Given the description of an element on the screen output the (x, y) to click on. 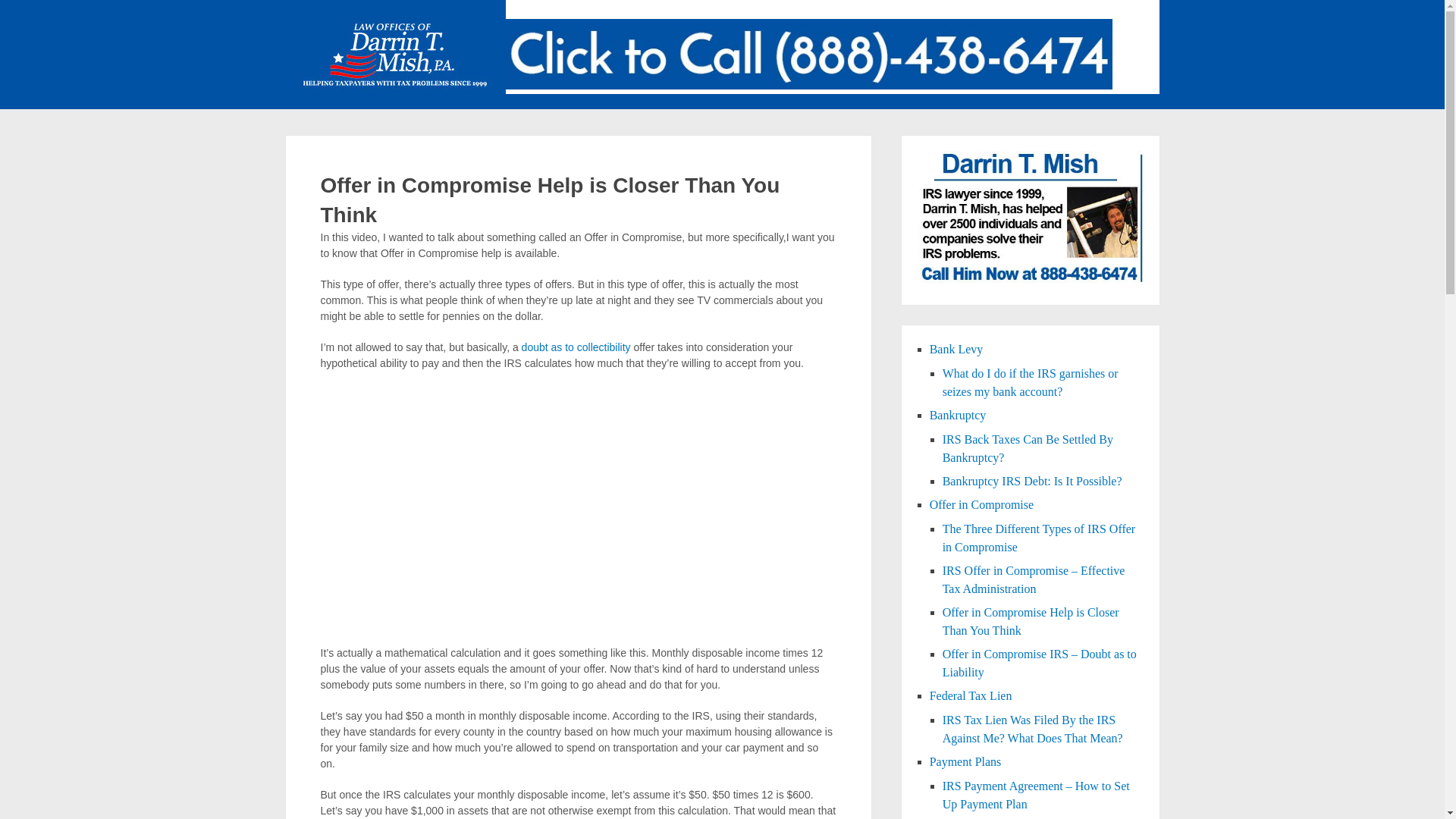
Bankruptcy (958, 414)
What do I do if the IRS garnishes or seizes my bank account? (1030, 382)
IRS Back Taxes Can Be Settled By Bankruptcy? (1027, 448)
doubt as to collectibility (575, 346)
Bank Levy (957, 349)
Bankruptcy IRS Debt: Is It Possible? (1032, 481)
Offer in Compromise (981, 504)
